Given the description of an element on the screen output the (x, y) to click on. 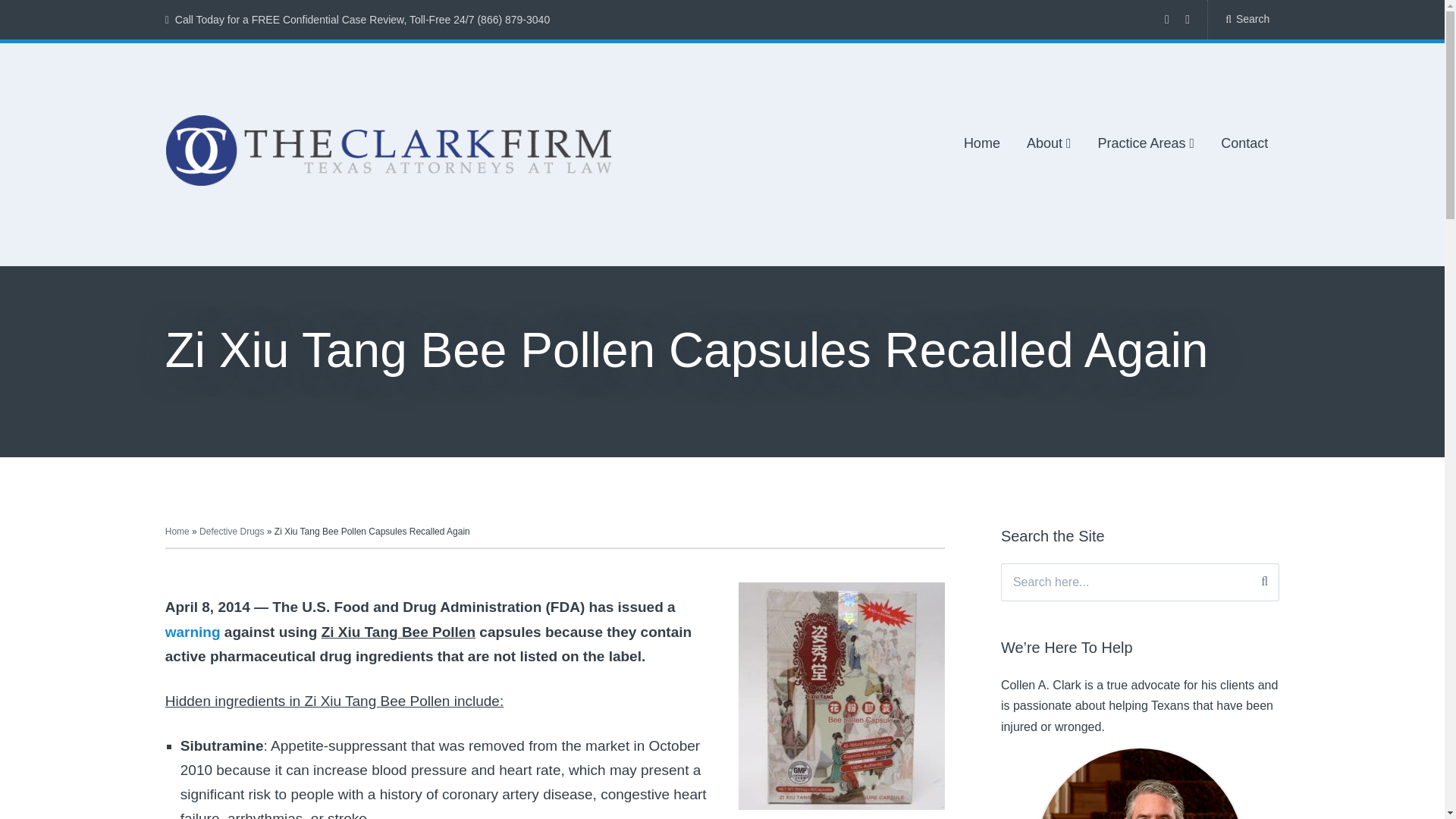
About (1048, 143)
Home (981, 143)
